Given the description of an element on the screen output the (x, y) to click on. 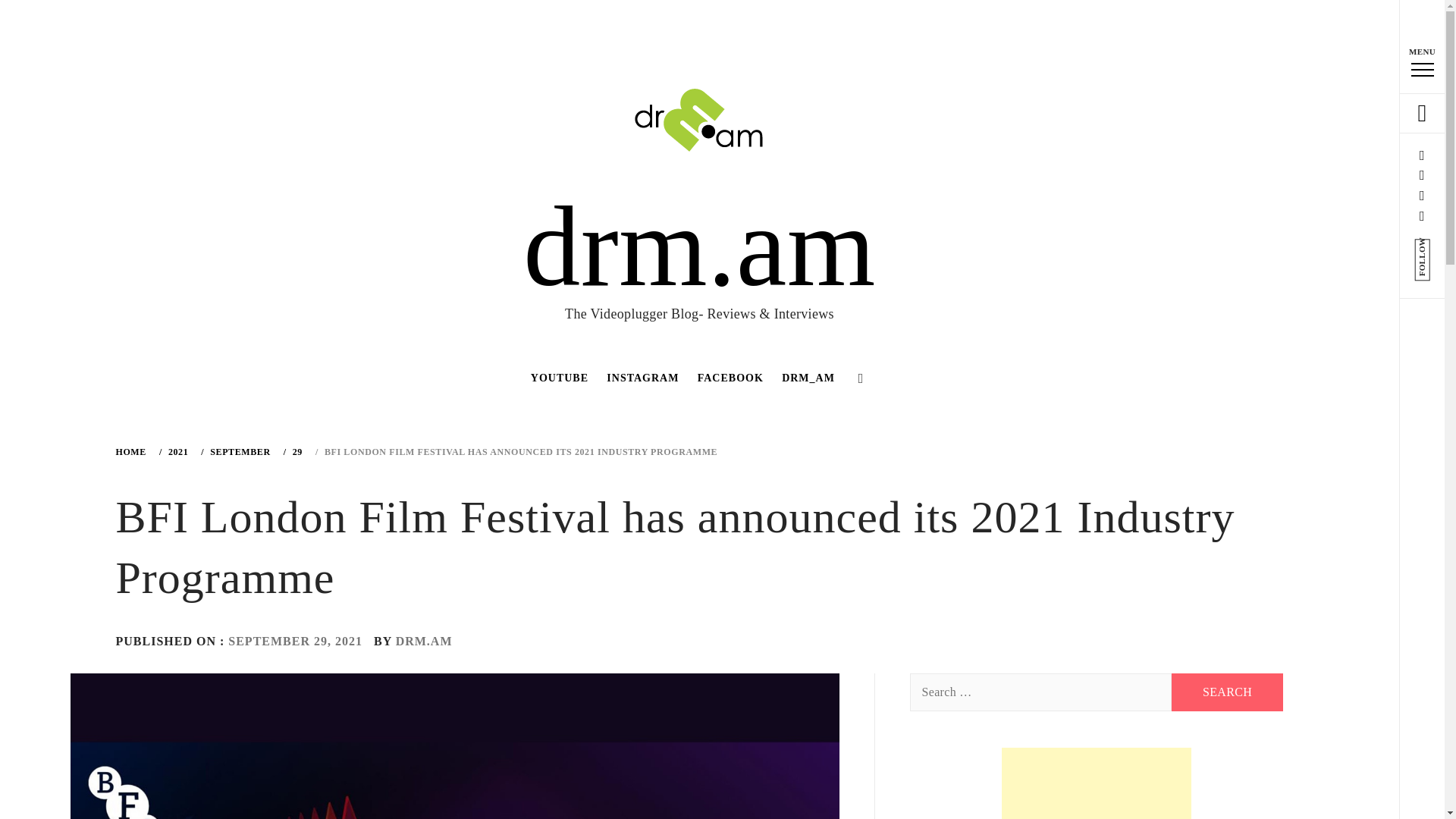
Search (1228, 692)
FACEBOOK (730, 378)
HOME (133, 451)
drm.am (698, 246)
SEPTEMBER (237, 451)
SEPTEMBER 29, 2021 (295, 640)
YOUTUBE (558, 378)
INSTAGRAM (641, 378)
Advertisement (1096, 783)
Search (646, 37)
2021 (175, 451)
Search (1228, 692)
29 (295, 451)
DRM.AM (424, 640)
